Given the description of an element on the screen output the (x, y) to click on. 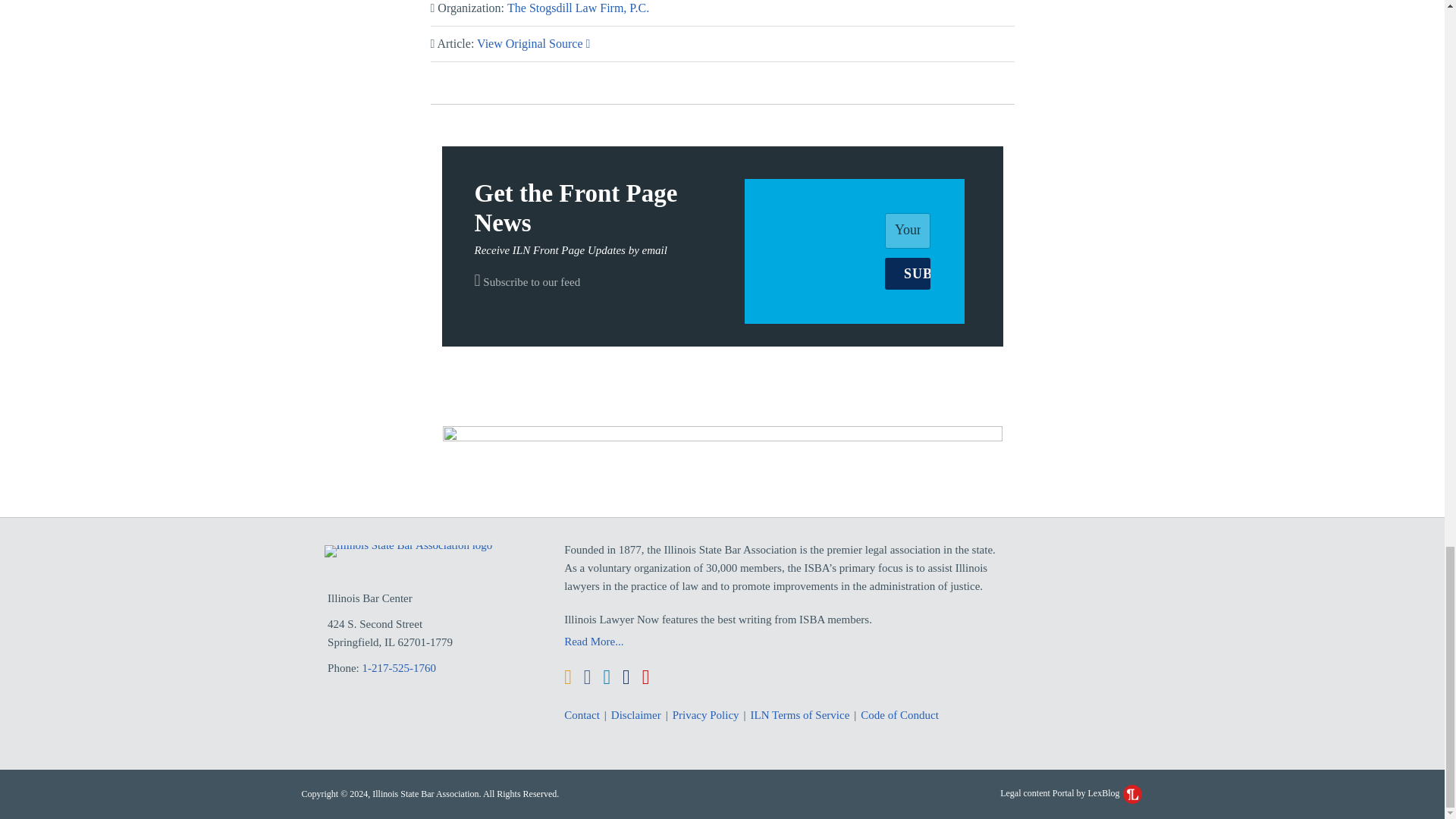
Privacy Policy (705, 714)
Twitter (626, 677)
Disclaimer (636, 714)
LinkedIn (606, 677)
LexBlog Logo (1131, 793)
RSS (568, 677)
View Original Source (533, 42)
Contact (581, 714)
Facebook (587, 677)
Subscribe to our feed (527, 282)
YouTube (645, 677)
SUBSCRIBE (907, 273)
Read More... (786, 641)
ILN Terms of Service (800, 714)
SUBSCRIBE (907, 273)
